Given the description of an element on the screen output the (x, y) to click on. 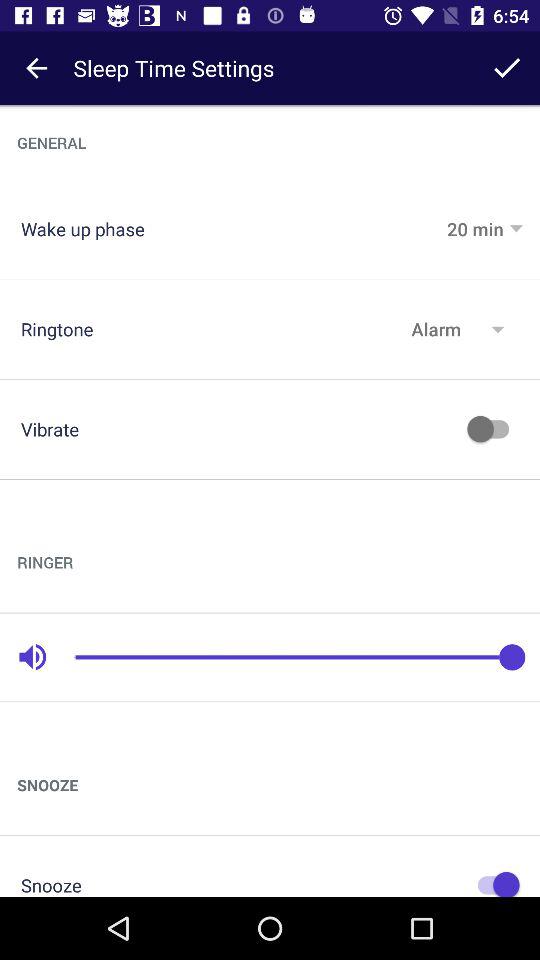
snooze on/off button (493, 882)
